Given the description of an element on the screen output the (x, y) to click on. 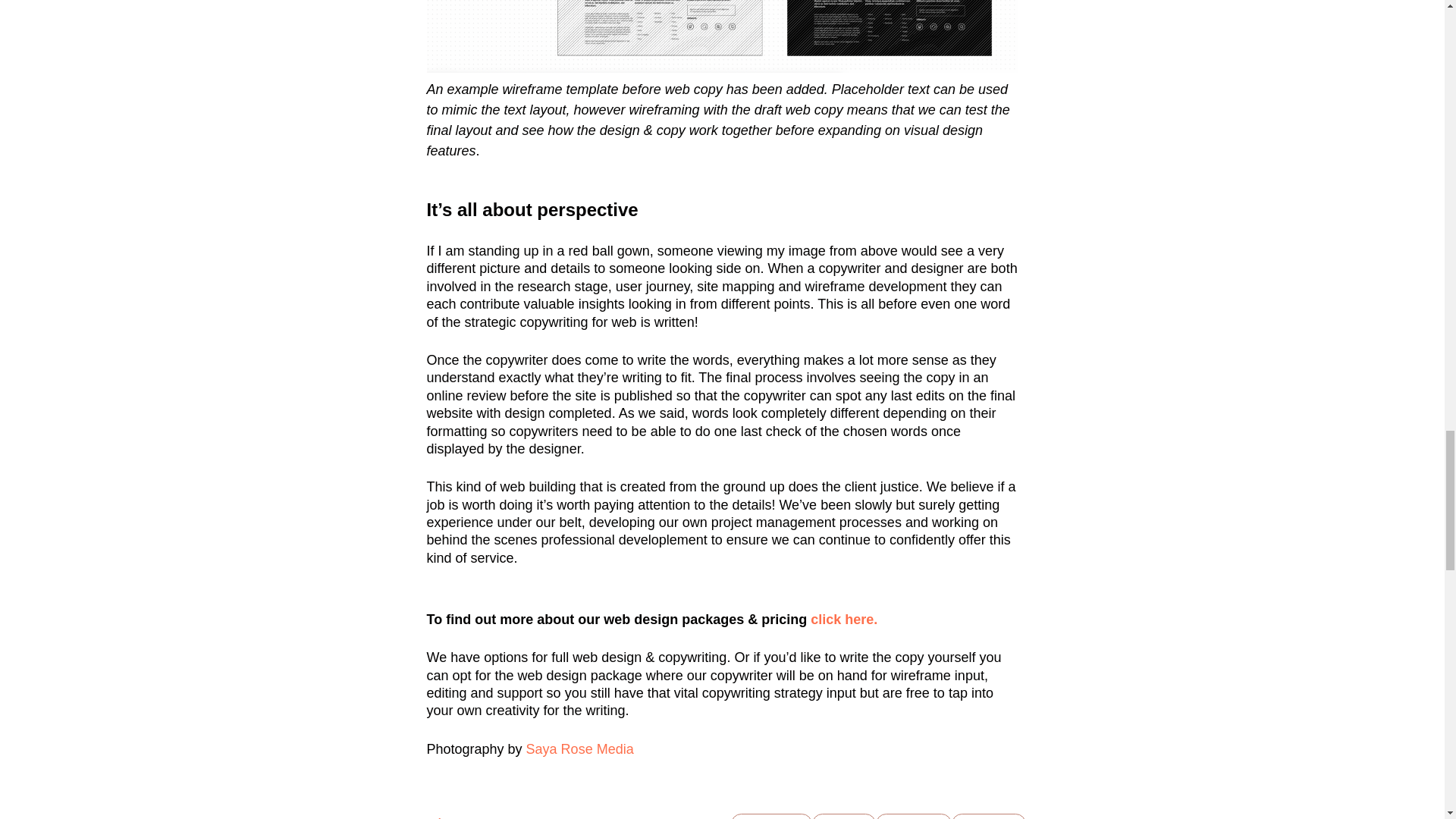
click here. (843, 619)
Saya Rose Media (579, 749)
